Given the description of an element on the screen output the (x, y) to click on. 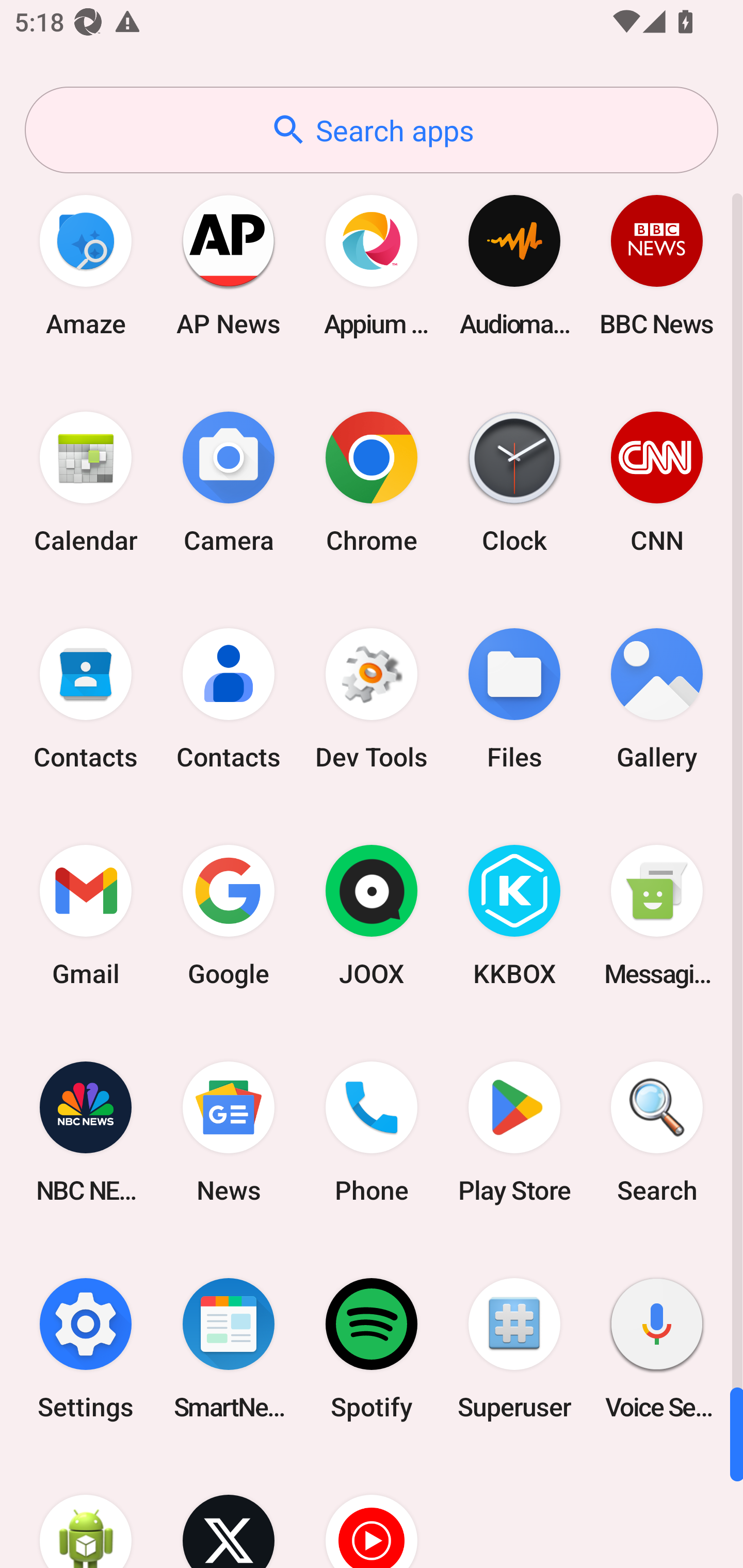
  Search apps (371, 130)
Amaze (85, 264)
AP News (228, 264)
Appium Settings (371, 264)
Audio­mack (514, 264)
BBC News (656, 264)
Calendar (85, 482)
Camera (228, 482)
Chrome (371, 482)
Clock (514, 482)
CNN (656, 482)
Contacts (85, 699)
Contacts (228, 699)
Dev Tools (371, 699)
Files (514, 699)
Gallery (656, 699)
Gmail (85, 915)
Google (228, 915)
JOOX (371, 915)
KKBOX (514, 915)
Messaging (656, 915)
NBC NEWS (85, 1131)
News (228, 1131)
Phone (371, 1131)
Play Store (514, 1131)
Search (656, 1131)
Settings (85, 1348)
SmartNews (228, 1348)
Spotify (371, 1348)
Superuser (514, 1348)
Voice Search (656, 1348)
WebView Browser Tester (85, 1512)
X (228, 1512)
YT Music (371, 1512)
